Given the description of an element on the screen output the (x, y) to click on. 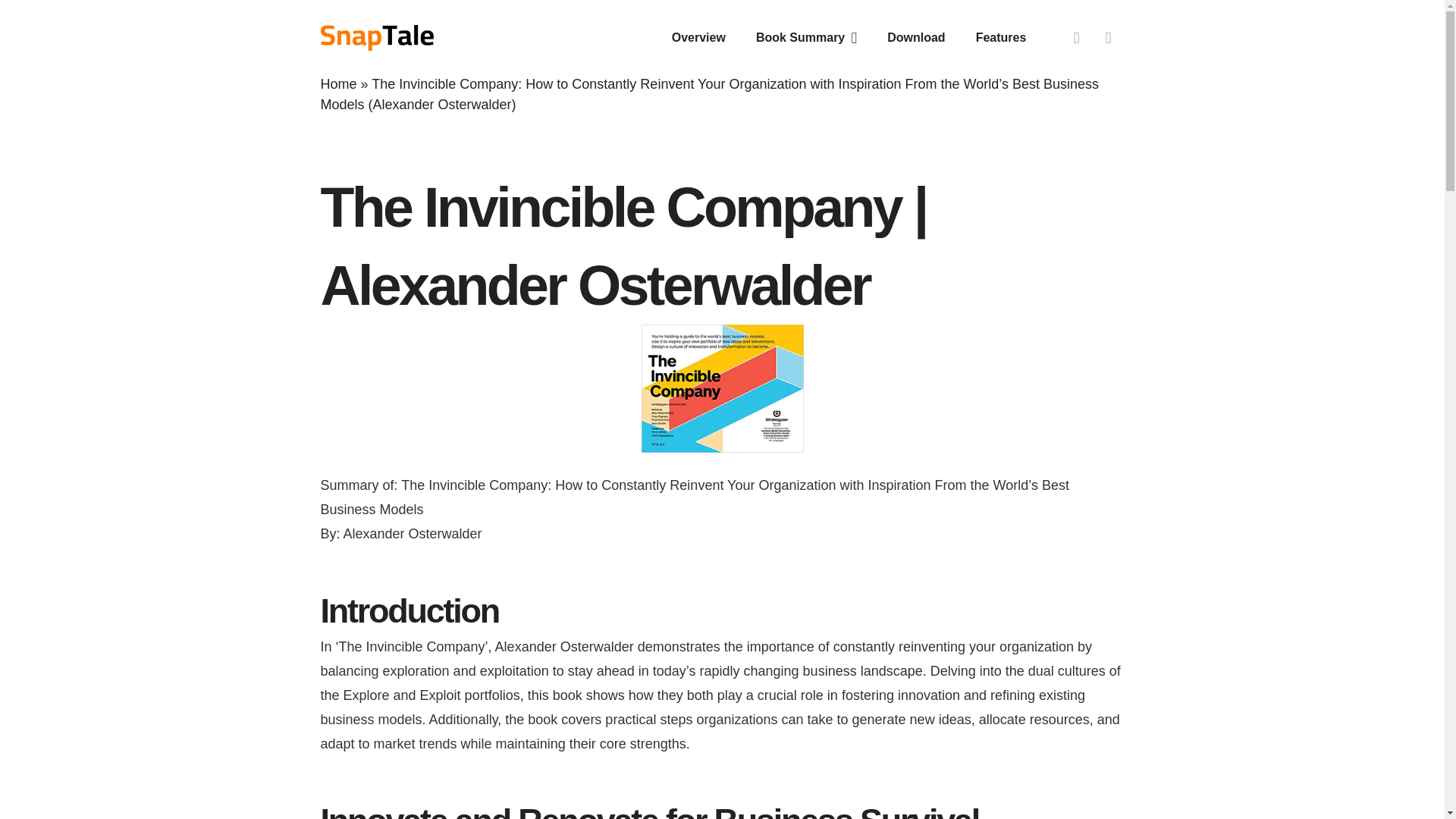
Download (915, 37)
Google Play (1108, 38)
Home (338, 83)
Apple Store (1077, 38)
Features (1001, 37)
Book Summary (806, 37)
Overview (698, 37)
